Given the description of an element on the screen output the (x, y) to click on. 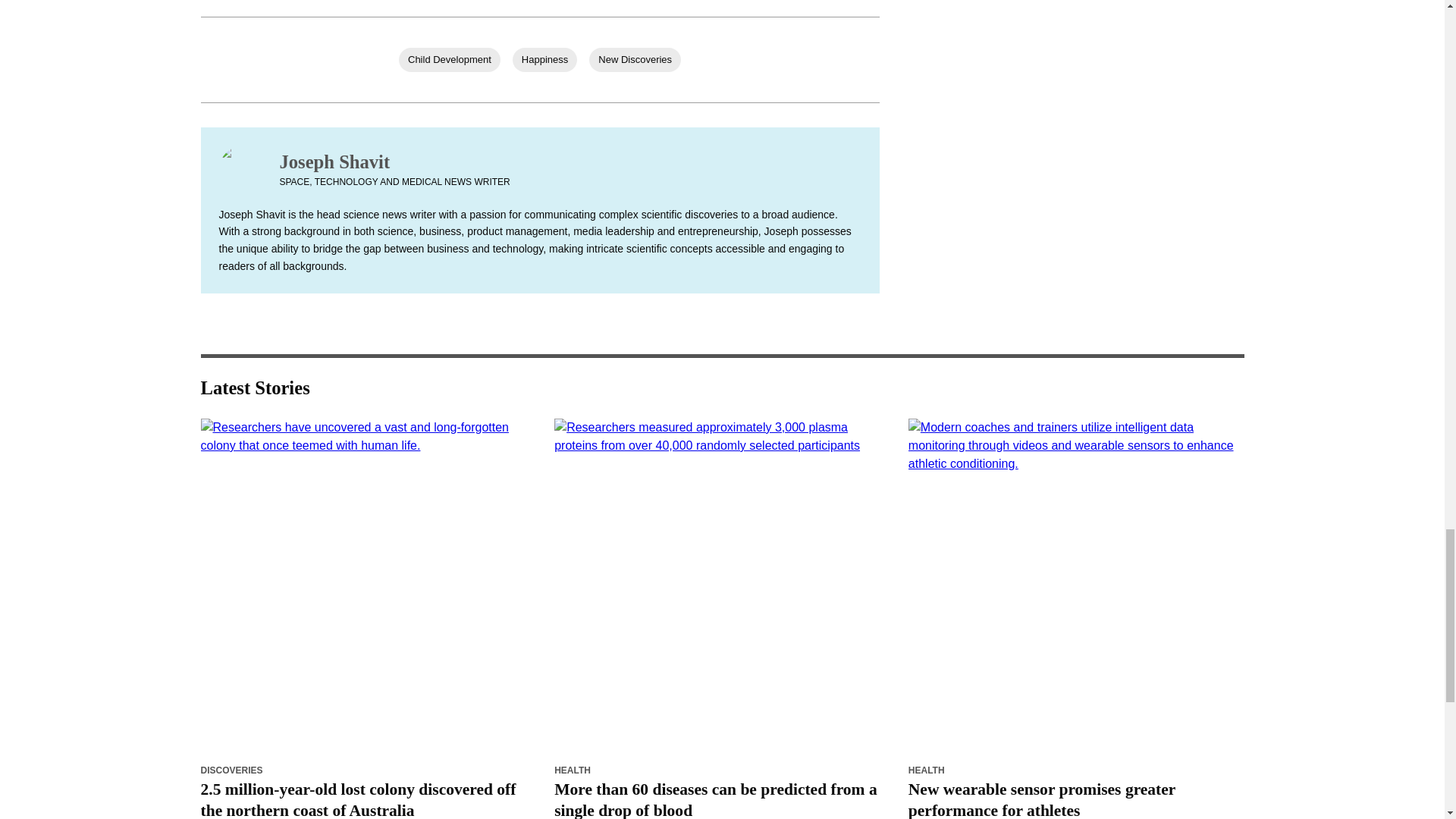
Happiness (544, 59)
HEALTH (926, 769)
DISCOVERIES (231, 769)
HEALTH (572, 769)
New Discoveries (635, 59)
Joseph Shavit (394, 161)
Child Development (449, 59)
